Given the description of an element on the screen output the (x, y) to click on. 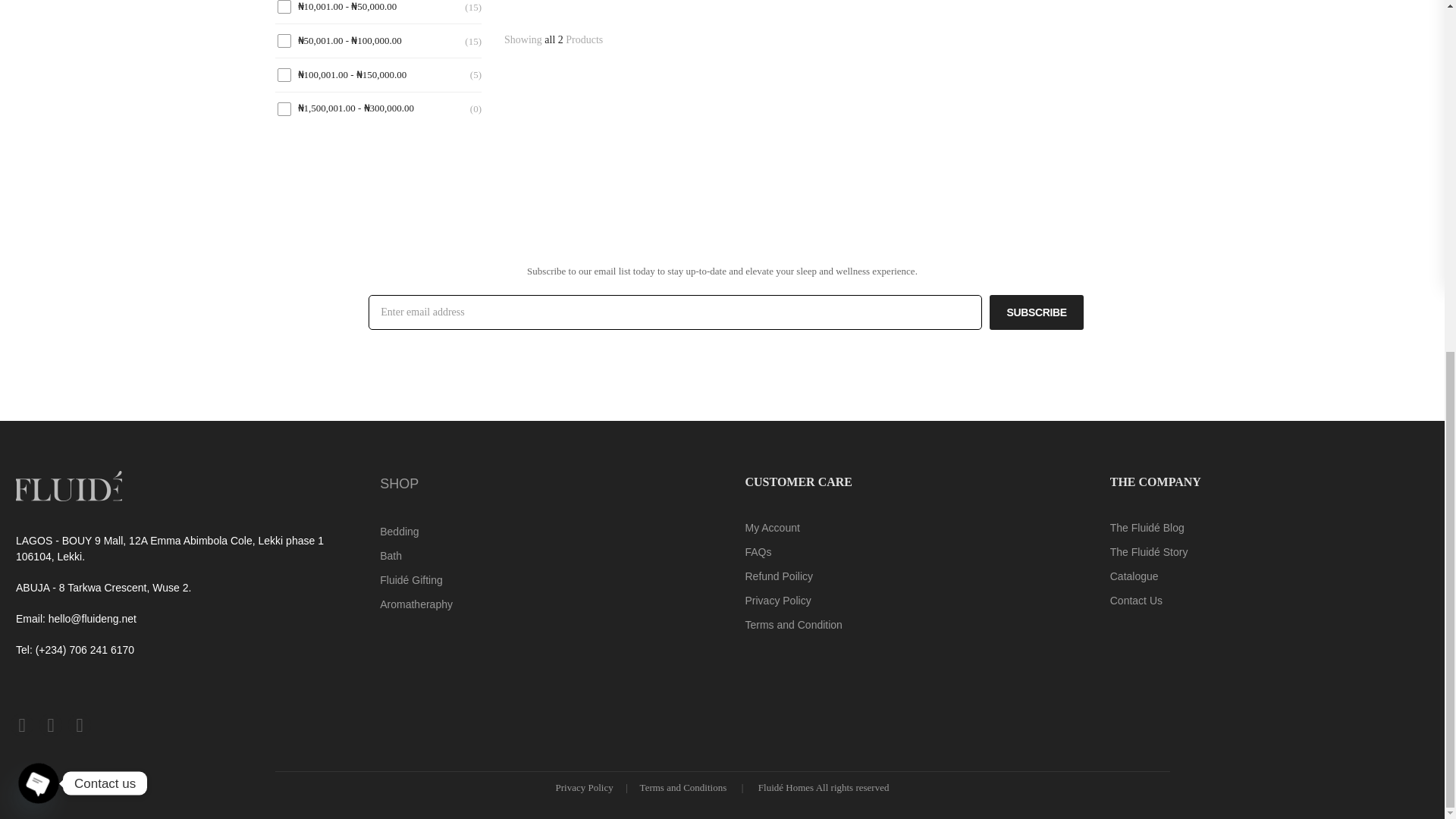
twitter (79, 724)
instagram (21, 724)
facebook (50, 724)
